Given the description of an element on the screen output the (x, y) to click on. 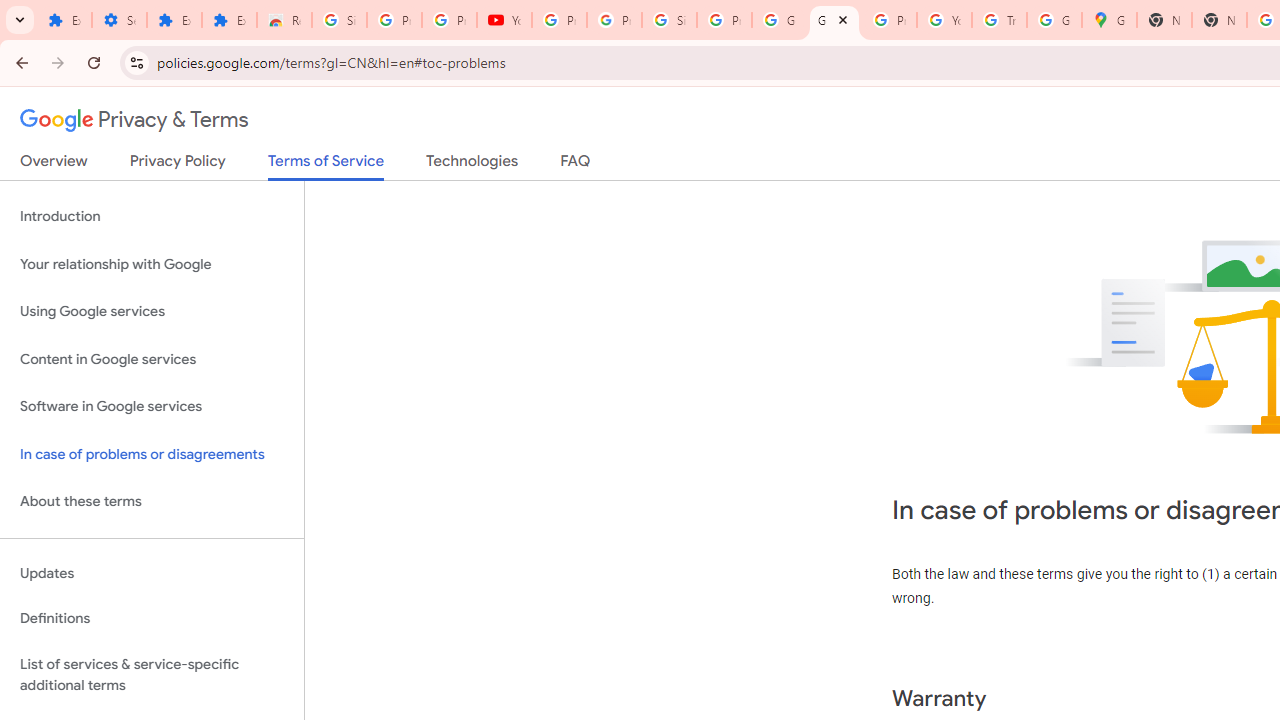
Reviews: Helix Fruit Jump Arcade Game (284, 20)
Extensions (64, 20)
Software in Google services (152, 407)
Extensions (229, 20)
